Given the description of an element on the screen output the (x, y) to click on. 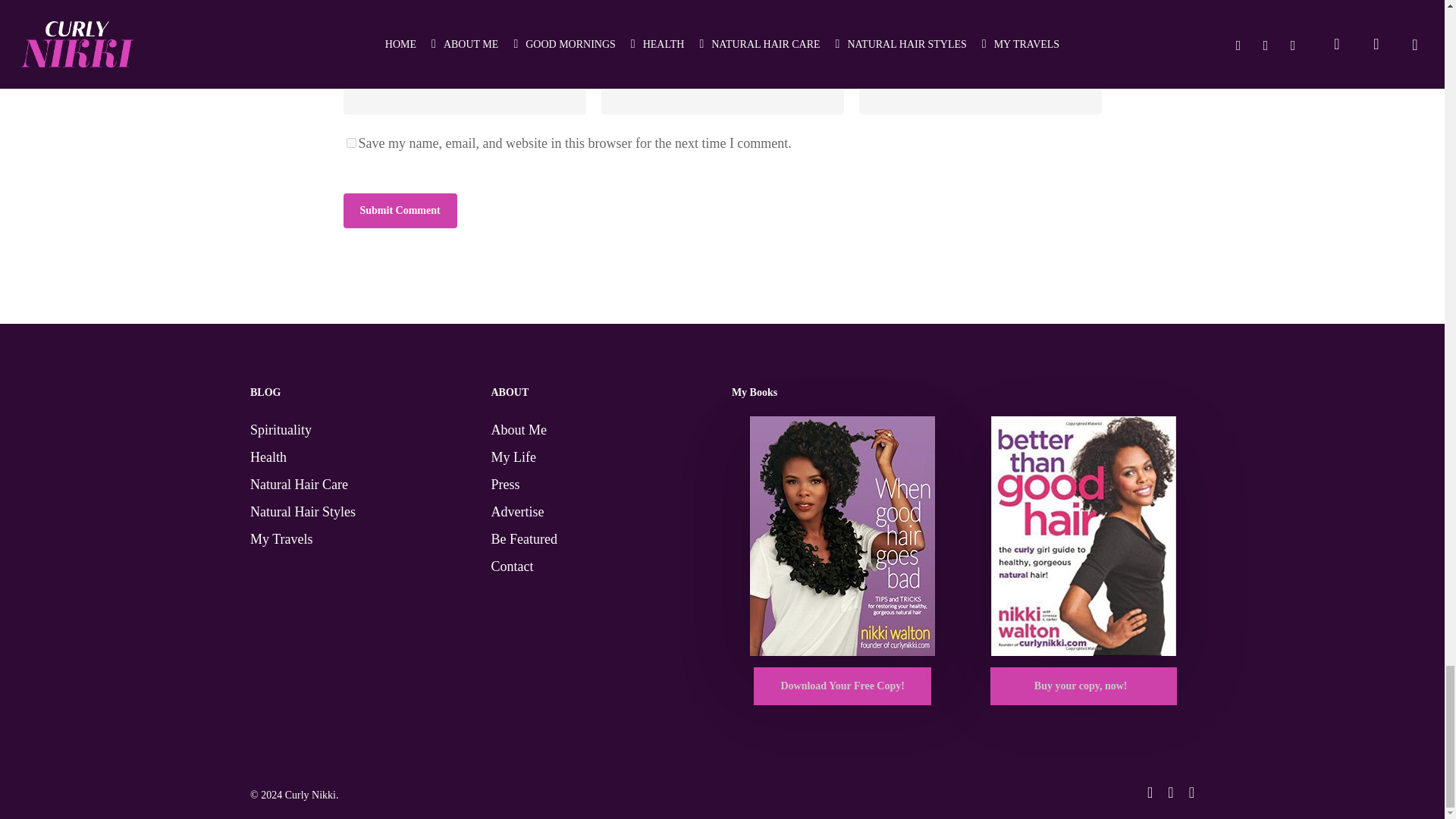
yes (350, 143)
Submit Comment (399, 210)
